Given the description of an element on the screen output the (x, y) to click on. 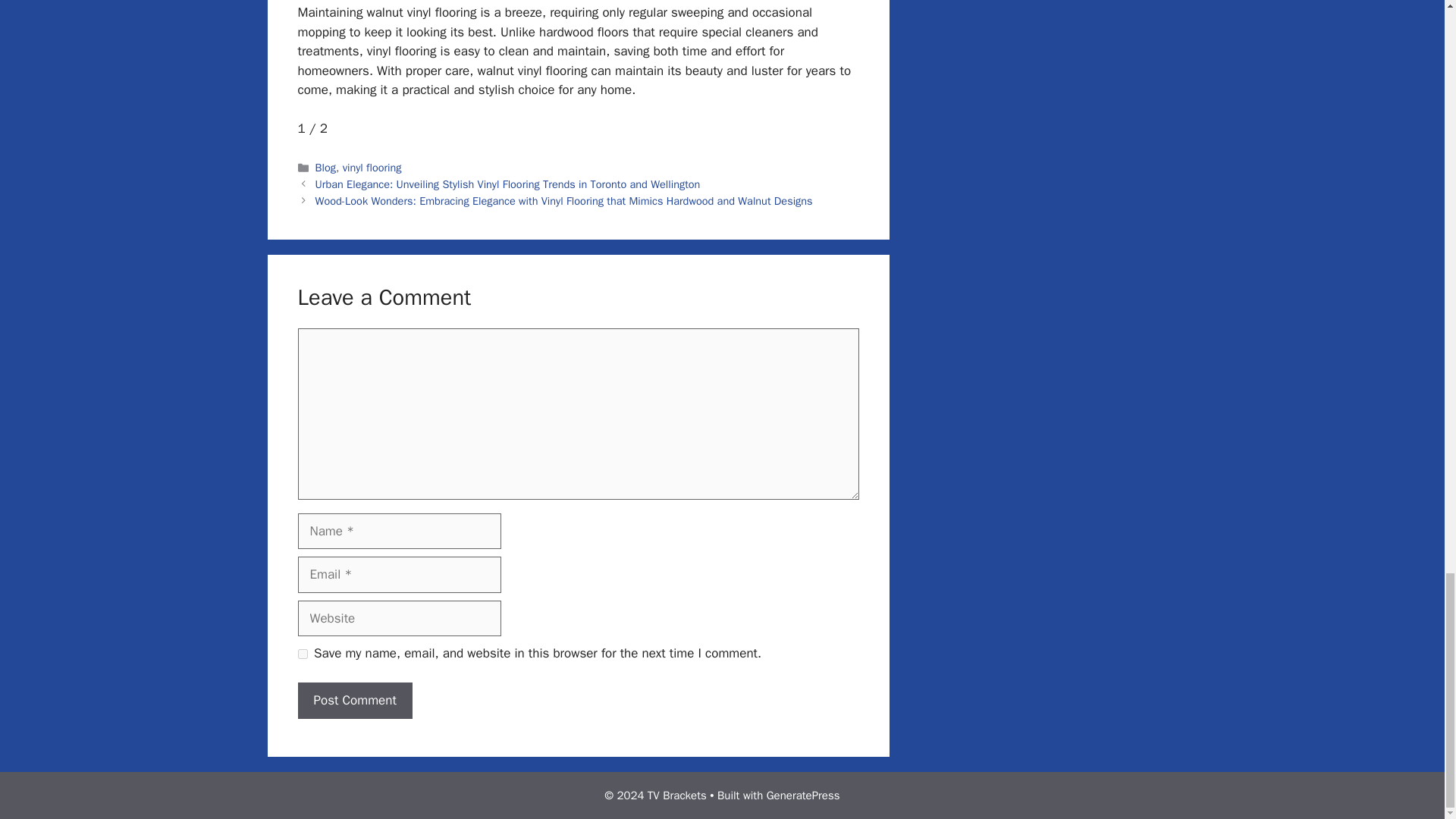
GeneratePress (803, 795)
yes (302, 653)
Blog (325, 167)
Post Comment (354, 700)
vinyl flooring (371, 167)
Post Comment (354, 700)
